Given the description of an element on the screen output the (x, y) to click on. 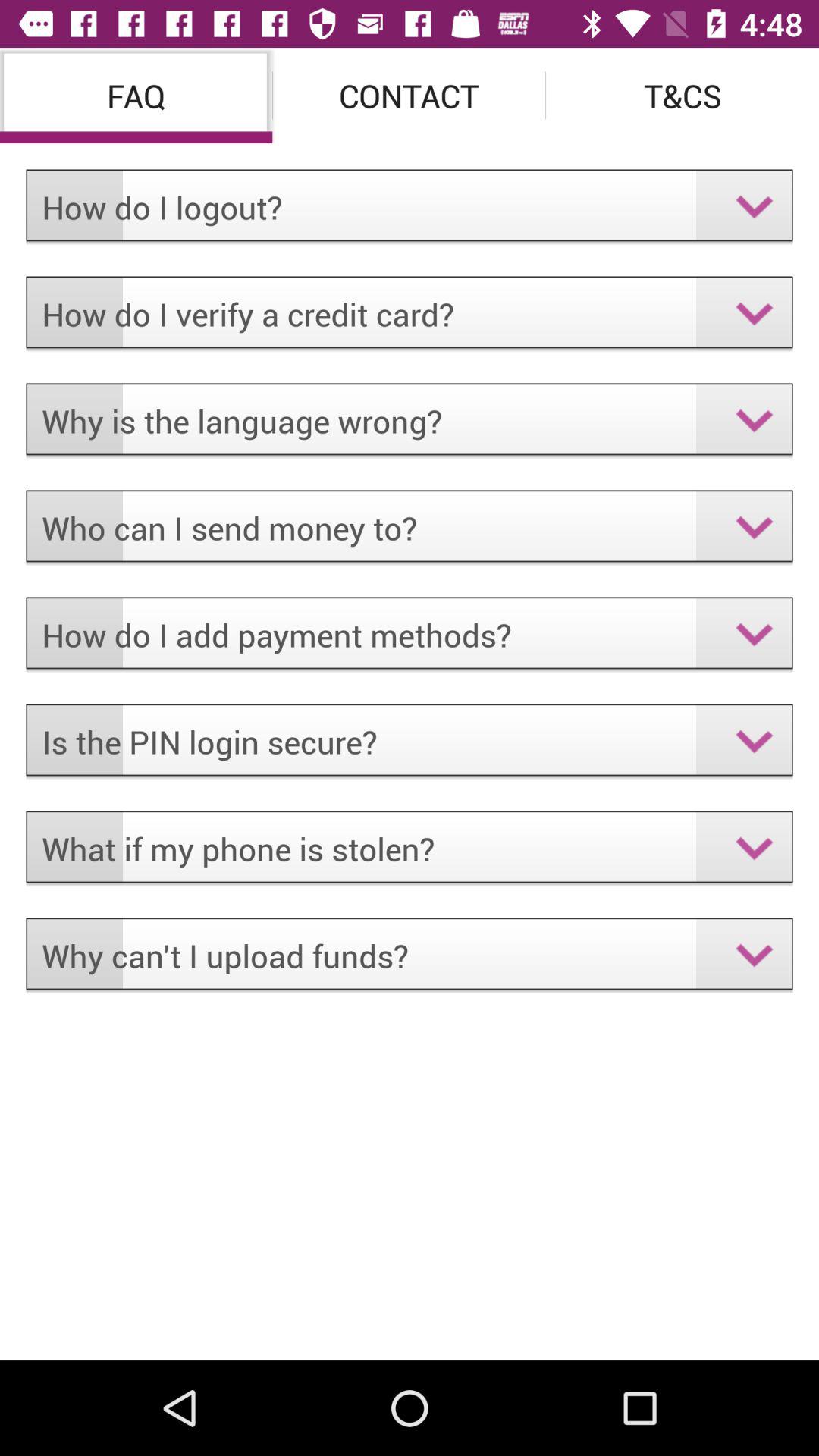
swipe until faq icon (136, 95)
